Given the description of an element on the screen output the (x, y) to click on. 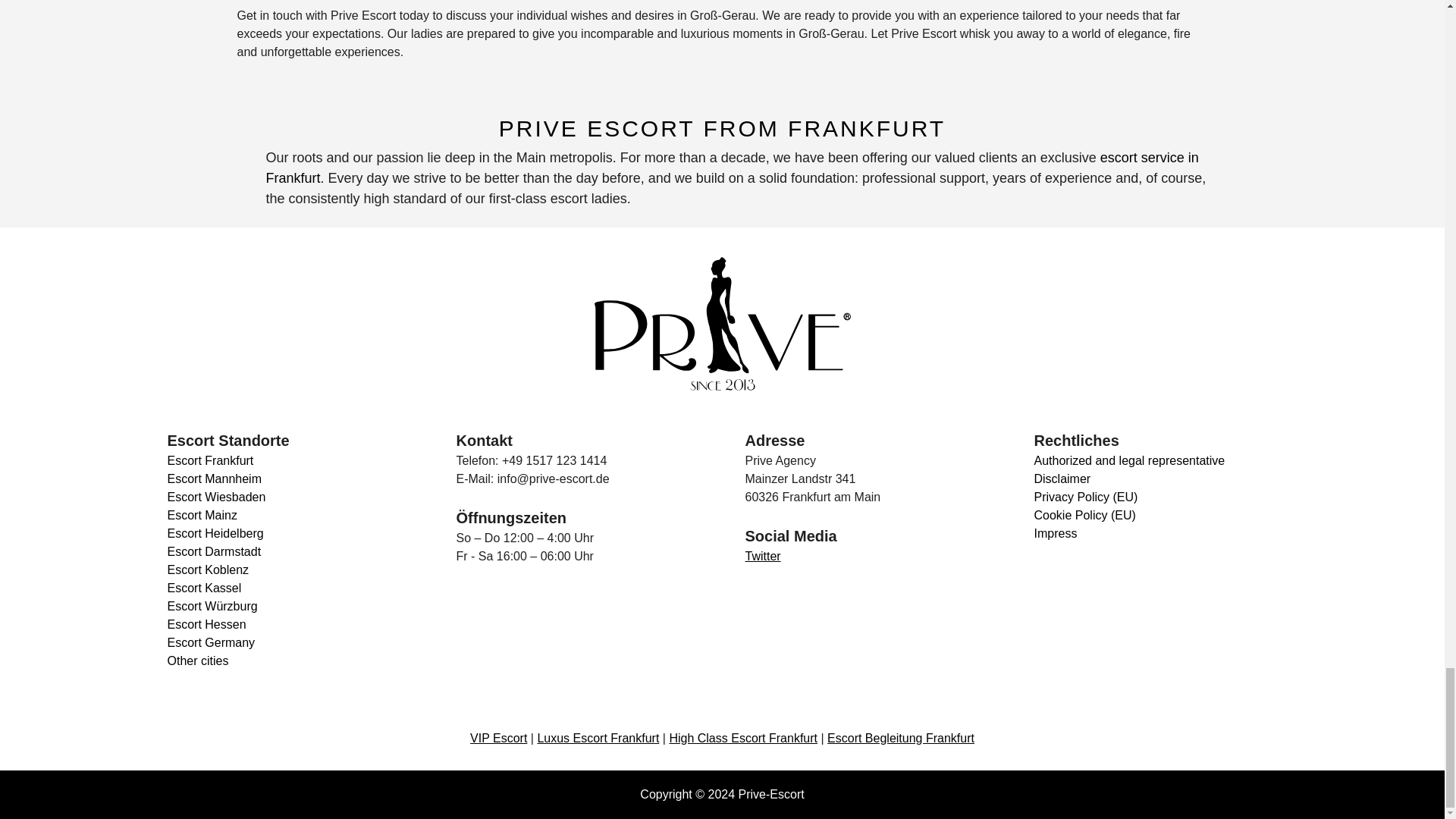
Prive E. auf Twitter (762, 555)
